Given the description of an element on the screen output the (x, y) to click on. 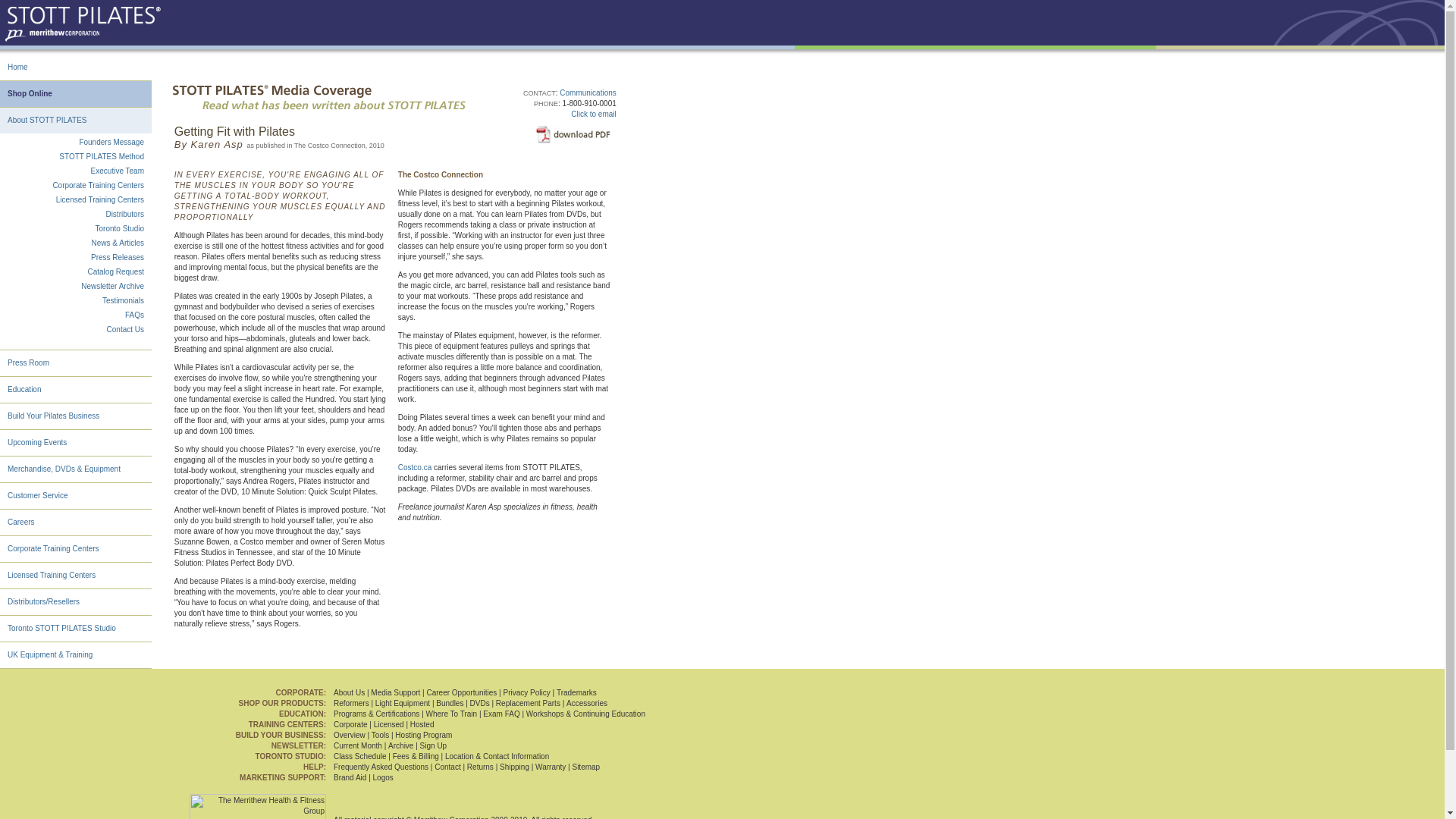
Press Releases (117, 257)
Testimonials (122, 300)
Contact Us (125, 329)
Distributors (124, 213)
Corporate Training Centers (98, 184)
Newsletter Archive (112, 285)
Executive Team (117, 171)
Home (17, 67)
Toronto Studio (120, 228)
FAQs (134, 315)
